Given the description of an element on the screen output the (x, y) to click on. 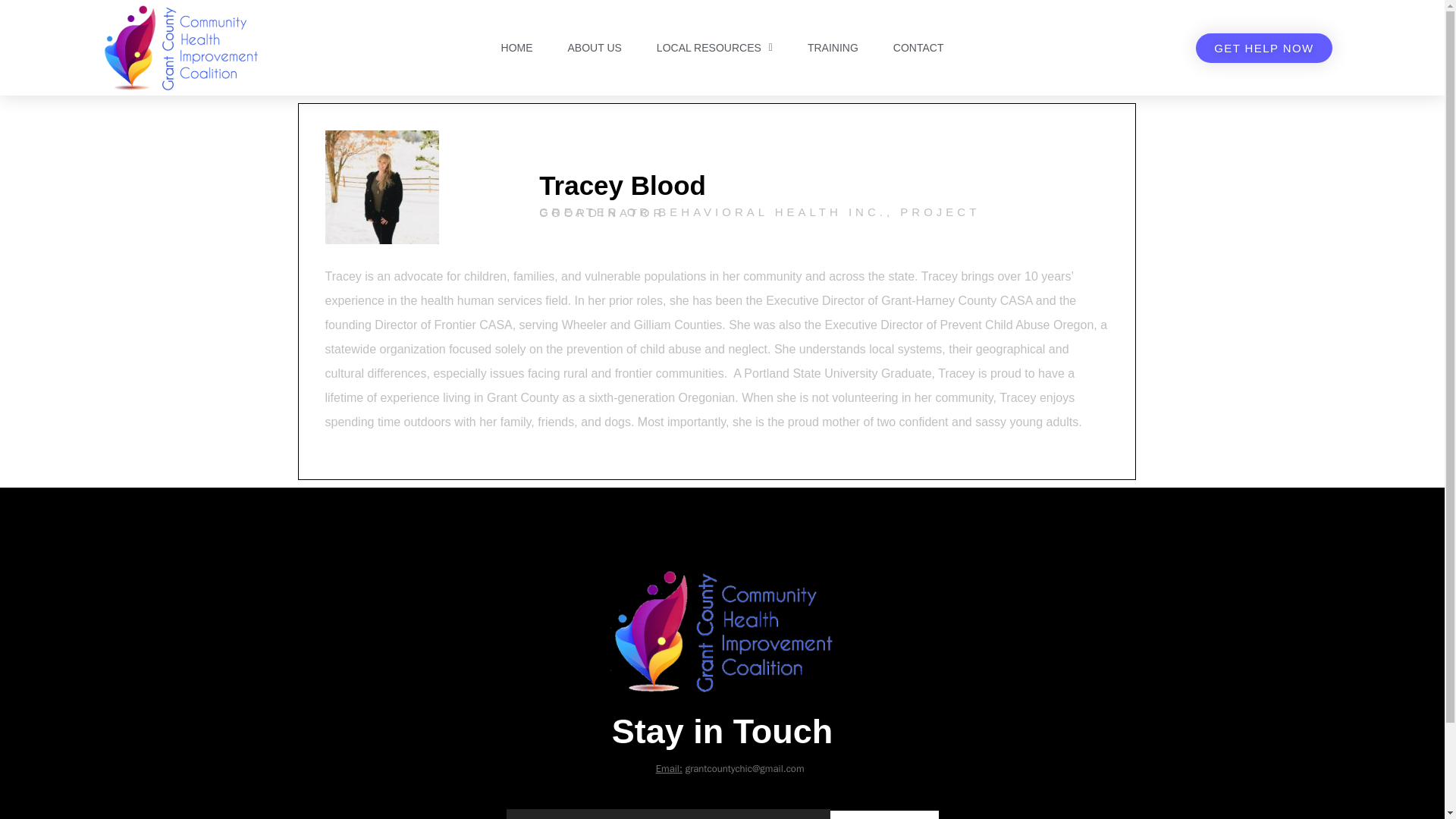
LOCAL RESOURCES (714, 47)
ABOUT US (595, 47)
HOME (517, 47)
